Given the description of an element on the screen output the (x, y) to click on. 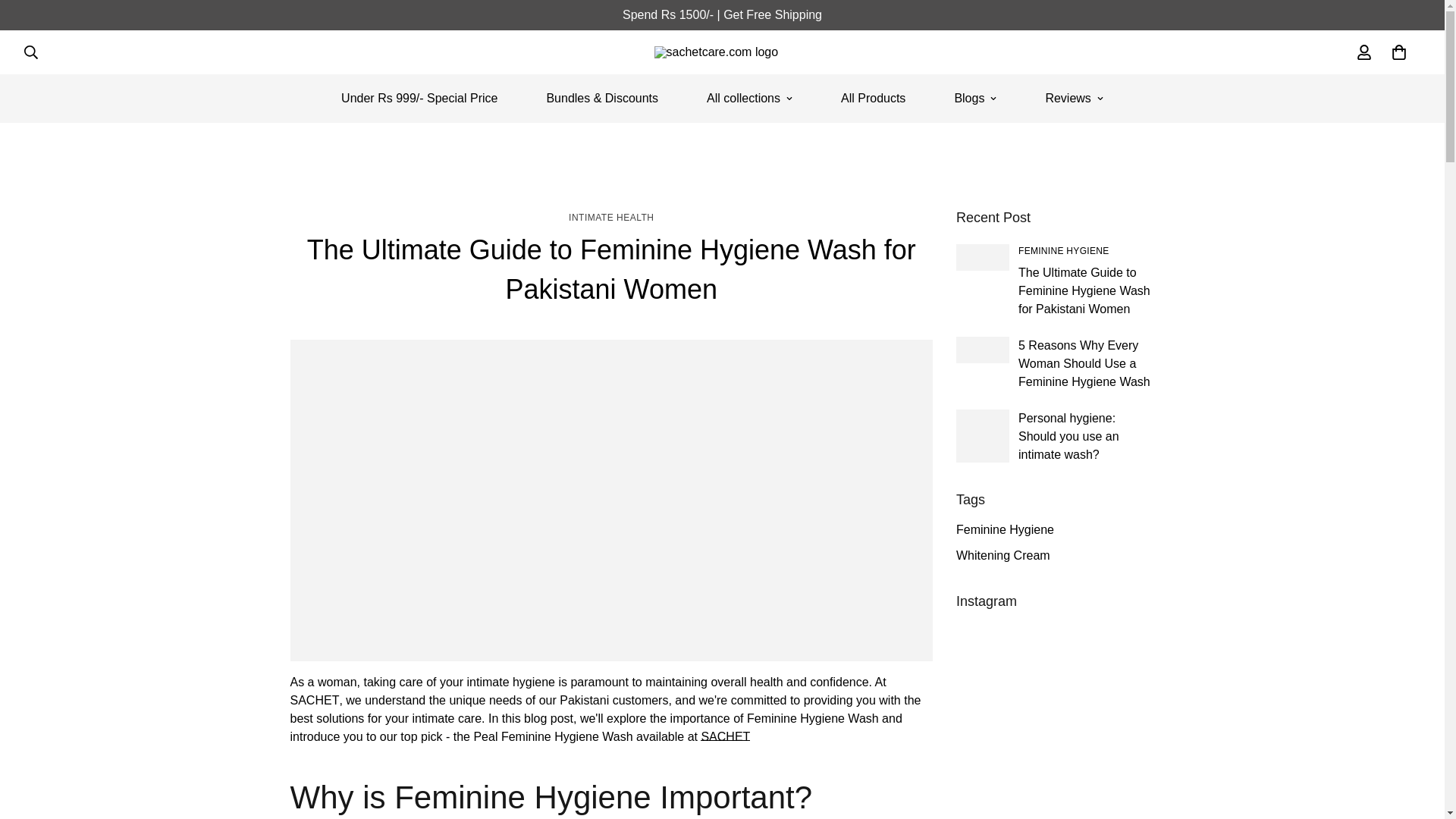
Peal Feminine Hygiene Wash (724, 736)
Show articles tagged Feminine Hygiene (1062, 250)
Peal Feminine Hygiene Wash (587, 708)
All collections (749, 98)
SACHET (721, 52)
